Given the description of an element on the screen output the (x, y) to click on. 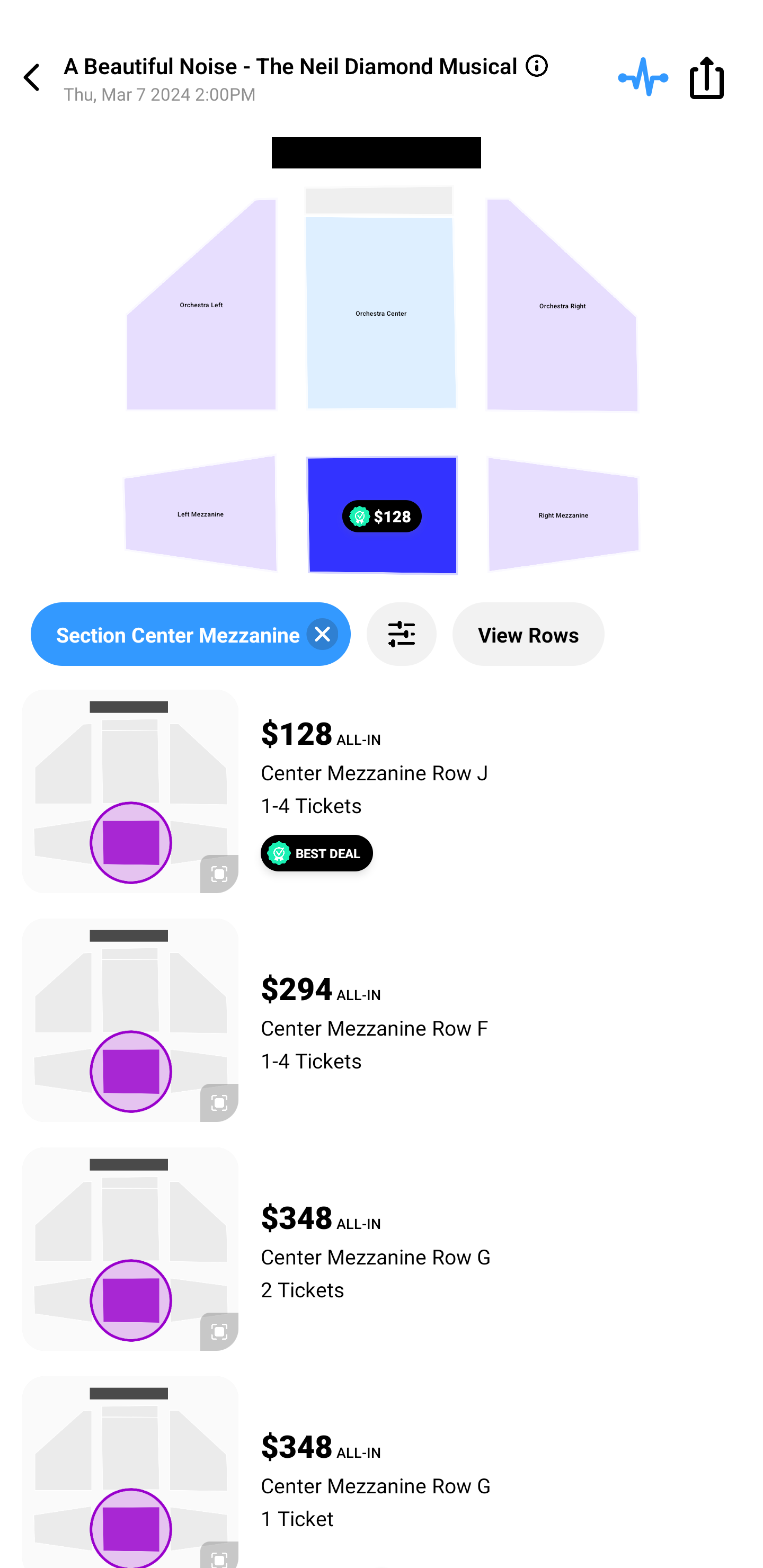
Section Center Mezzanine (190, 634)
View Rows (528, 634)
BEST DEAL (316, 852)
